Given the description of an element on the screen output the (x, y) to click on. 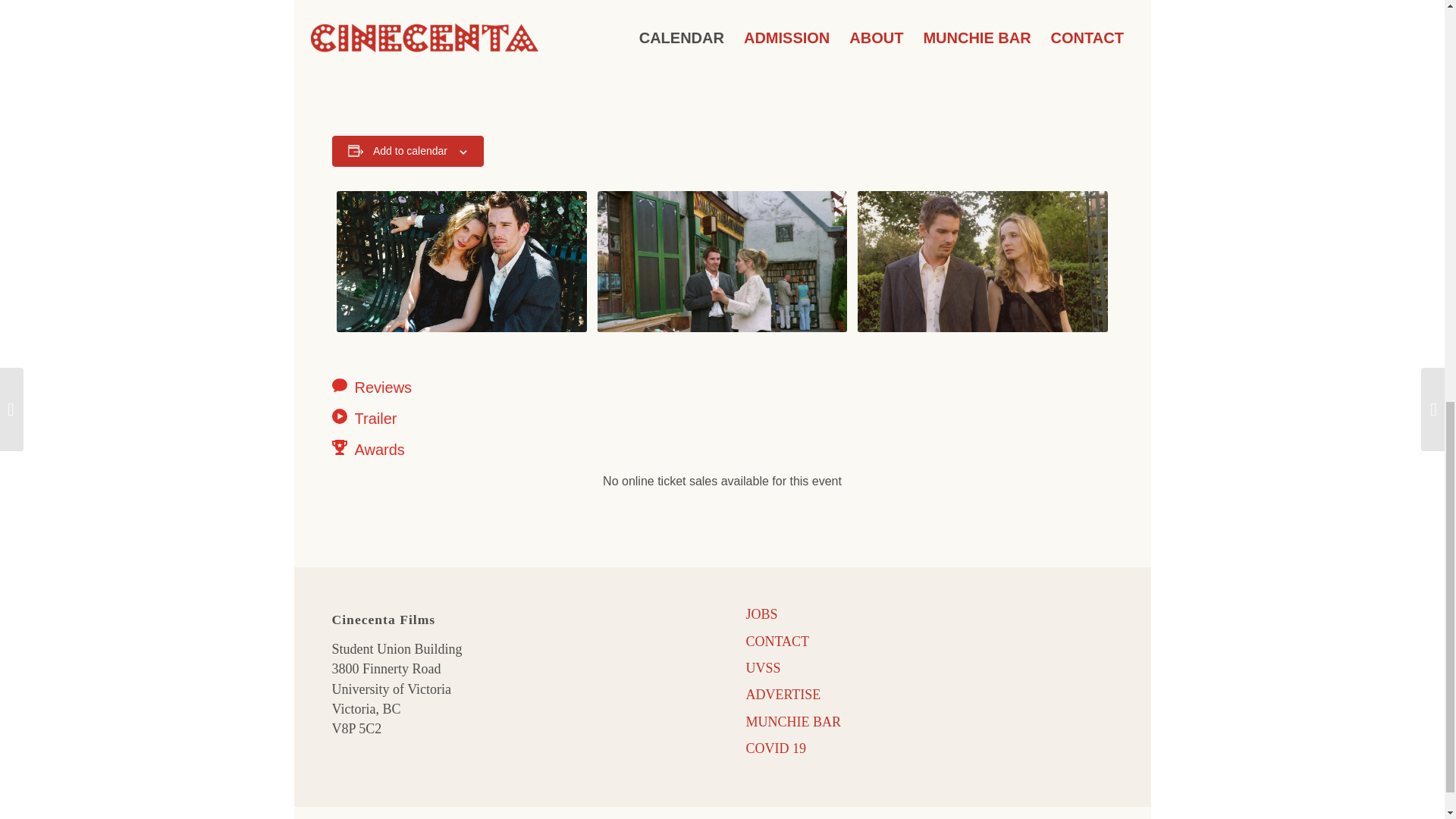
Reviews (448, 387)
Awards (448, 449)
Add to calendar (409, 150)
Before Sunset, 2004 (461, 260)
Before Sunset, 2004 (721, 260)
Trailer (448, 418)
